Given the description of an element on the screen output the (x, y) to click on. 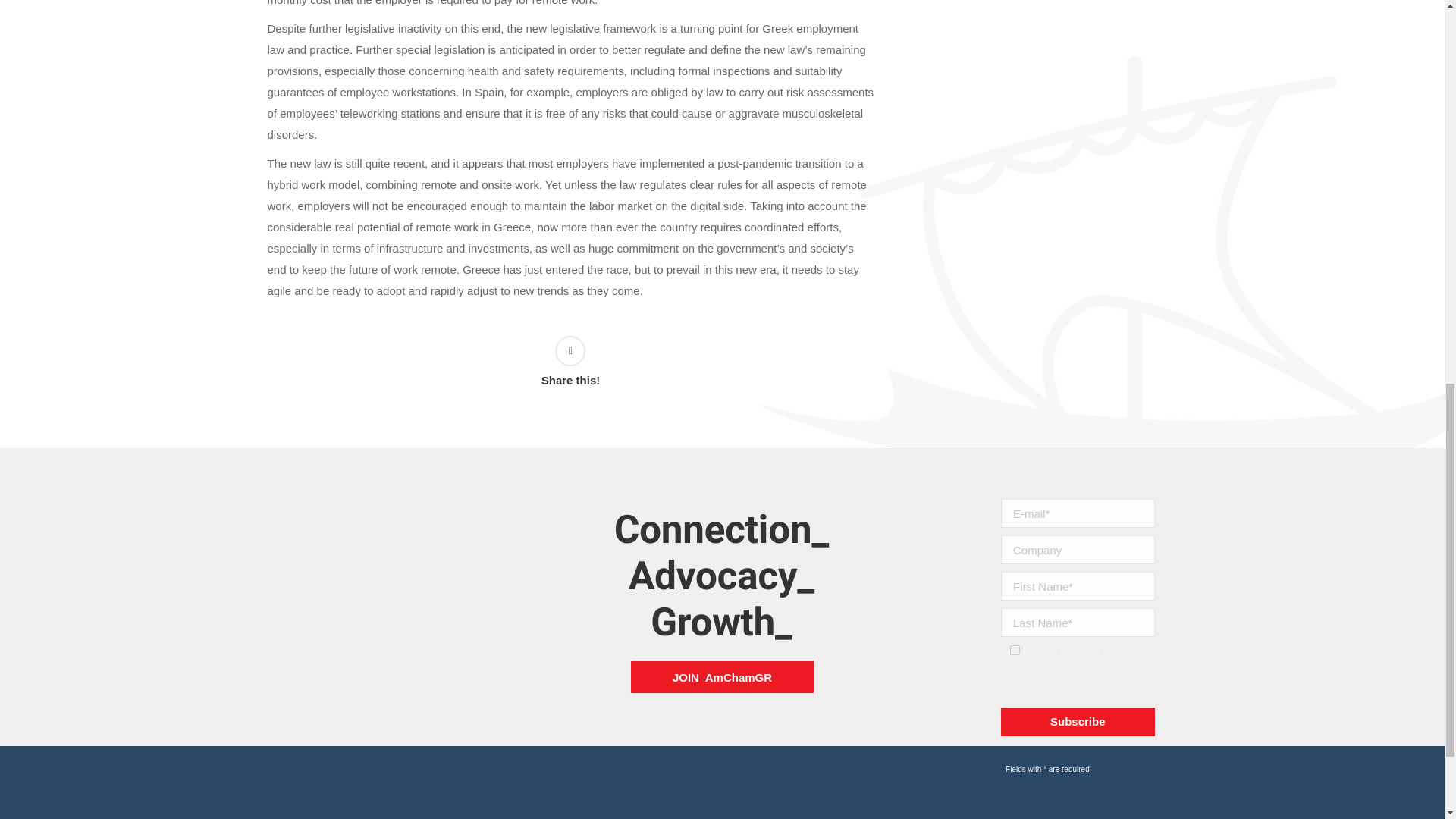
Subscribe (1077, 721)
1 (1015, 650)
